Given the description of an element on the screen output the (x, y) to click on. 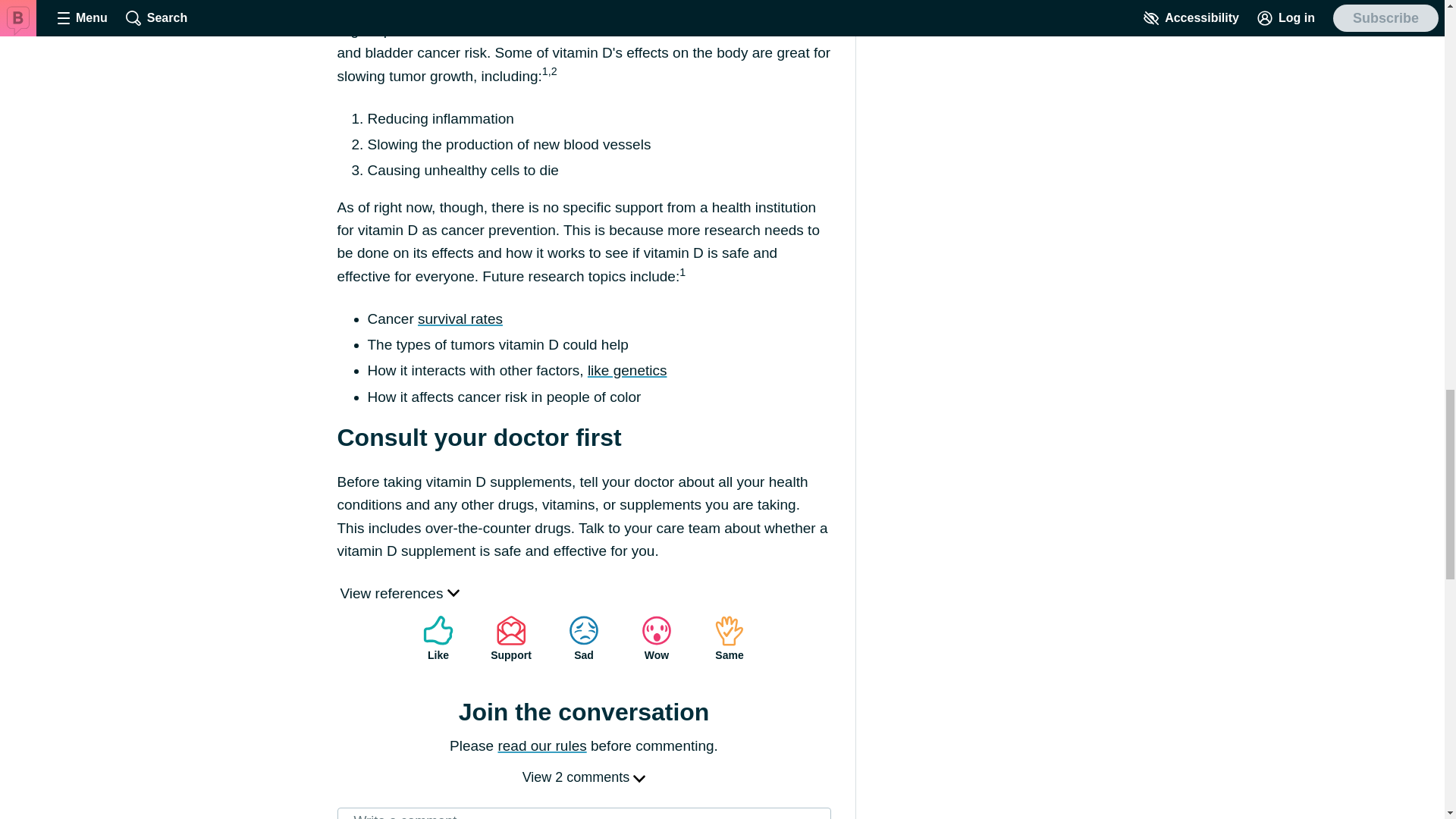
Like (437, 638)
View 2 comments caret icon (584, 777)
read our rules (541, 745)
Wow (656, 638)
survival rates (459, 318)
Support (510, 638)
caret icon (639, 777)
like genetics (627, 370)
caret icon (453, 592)
Same (729, 638)
